Given the description of an element on the screen output the (x, y) to click on. 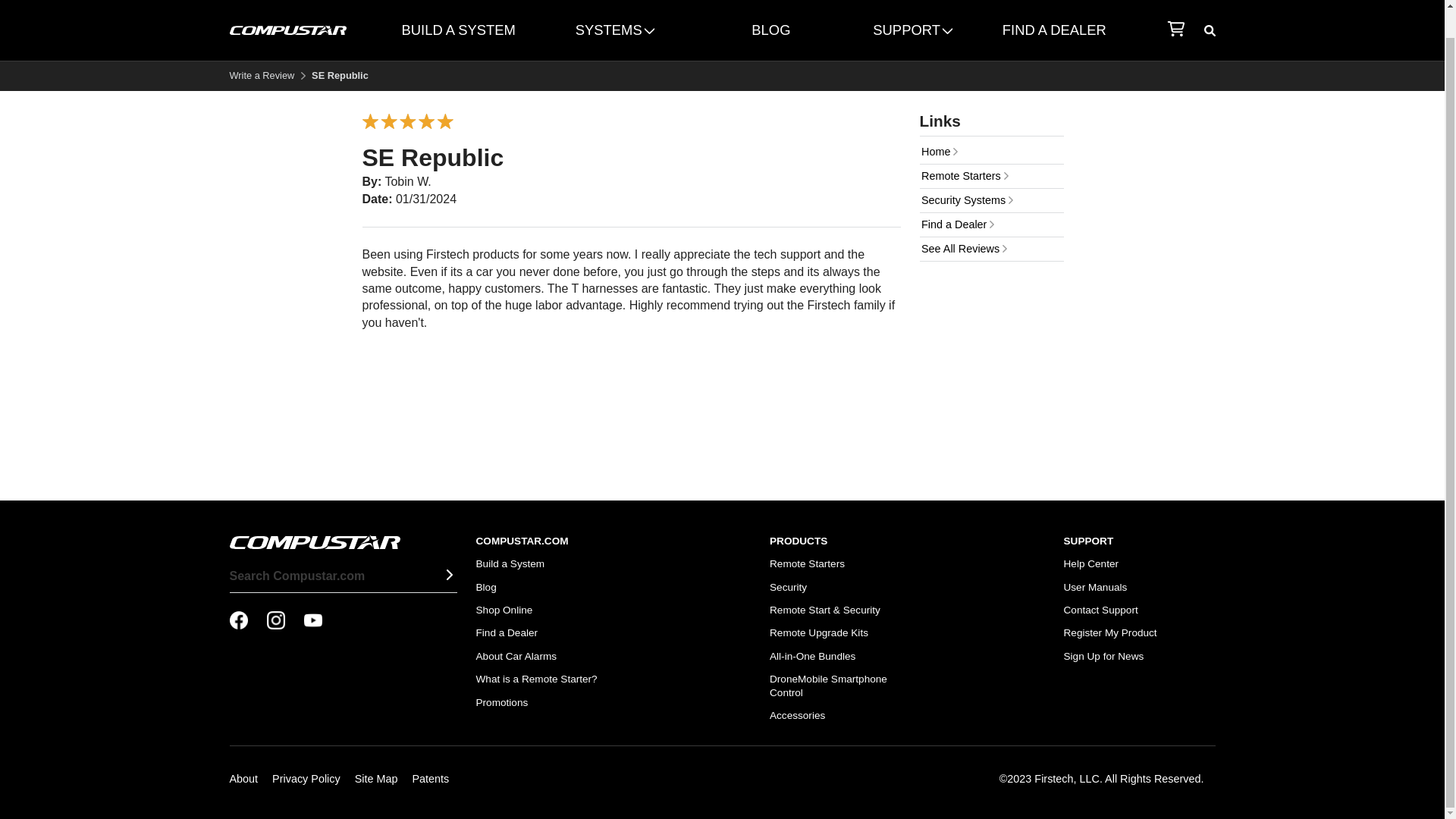
Write a Review (261, 75)
FIND A DEALER (1054, 29)
expand-menu-item (912, 29)
SUPPORT (912, 29)
BUILD A SYSTEM (457, 29)
Home (990, 151)
SYSTEMS (613, 29)
BLOG (771, 29)
expand-menu-item (613, 29)
